Given the description of an element on the screen output the (x, y) to click on. 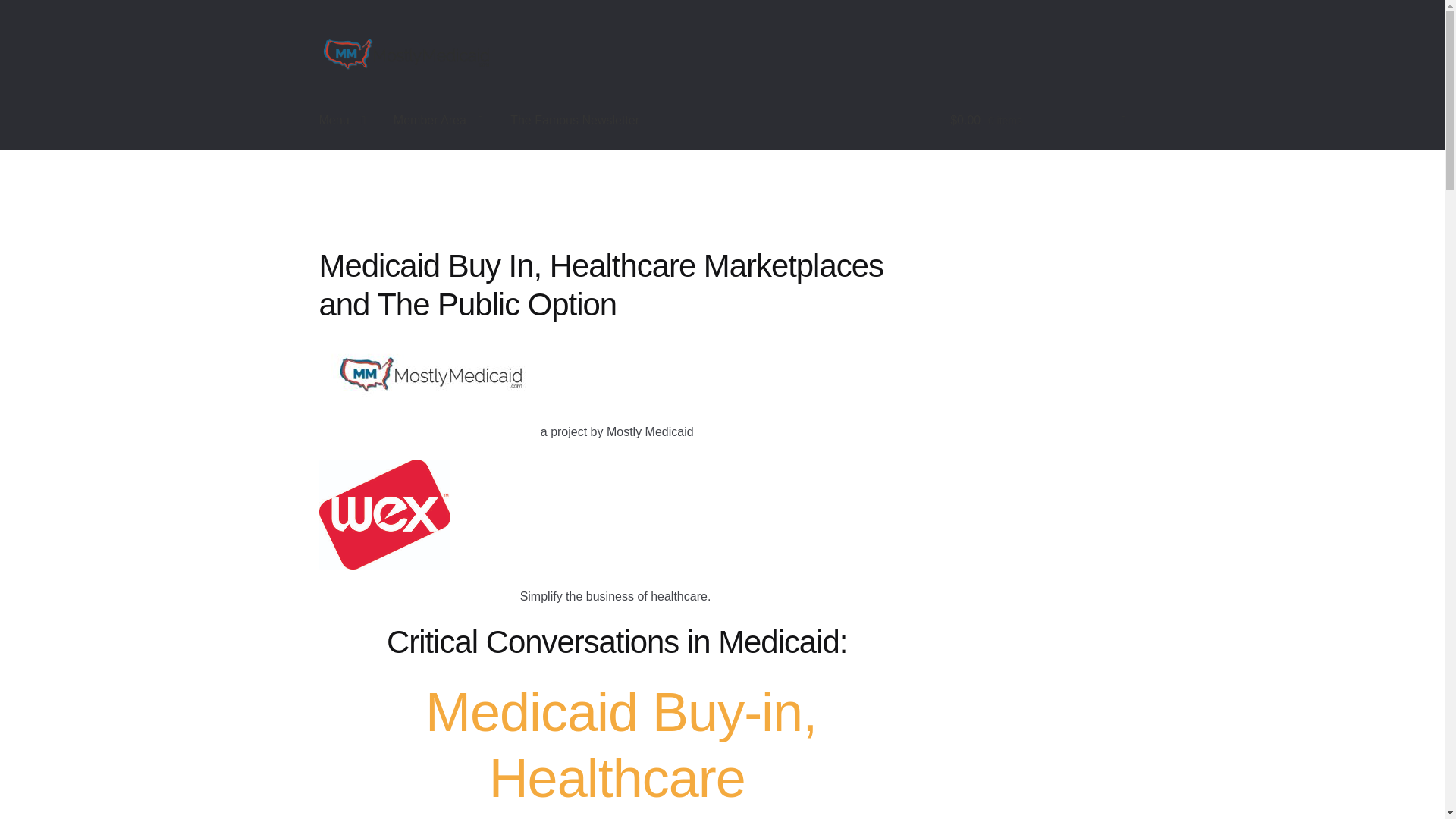
MM logo (429, 373)
wexlogo (383, 514)
The Famous Newsletter (573, 119)
Menu (342, 119)
View your shopping cart (1037, 119)
Member Area (438, 119)
